Given the description of an element on the screen output the (x, y) to click on. 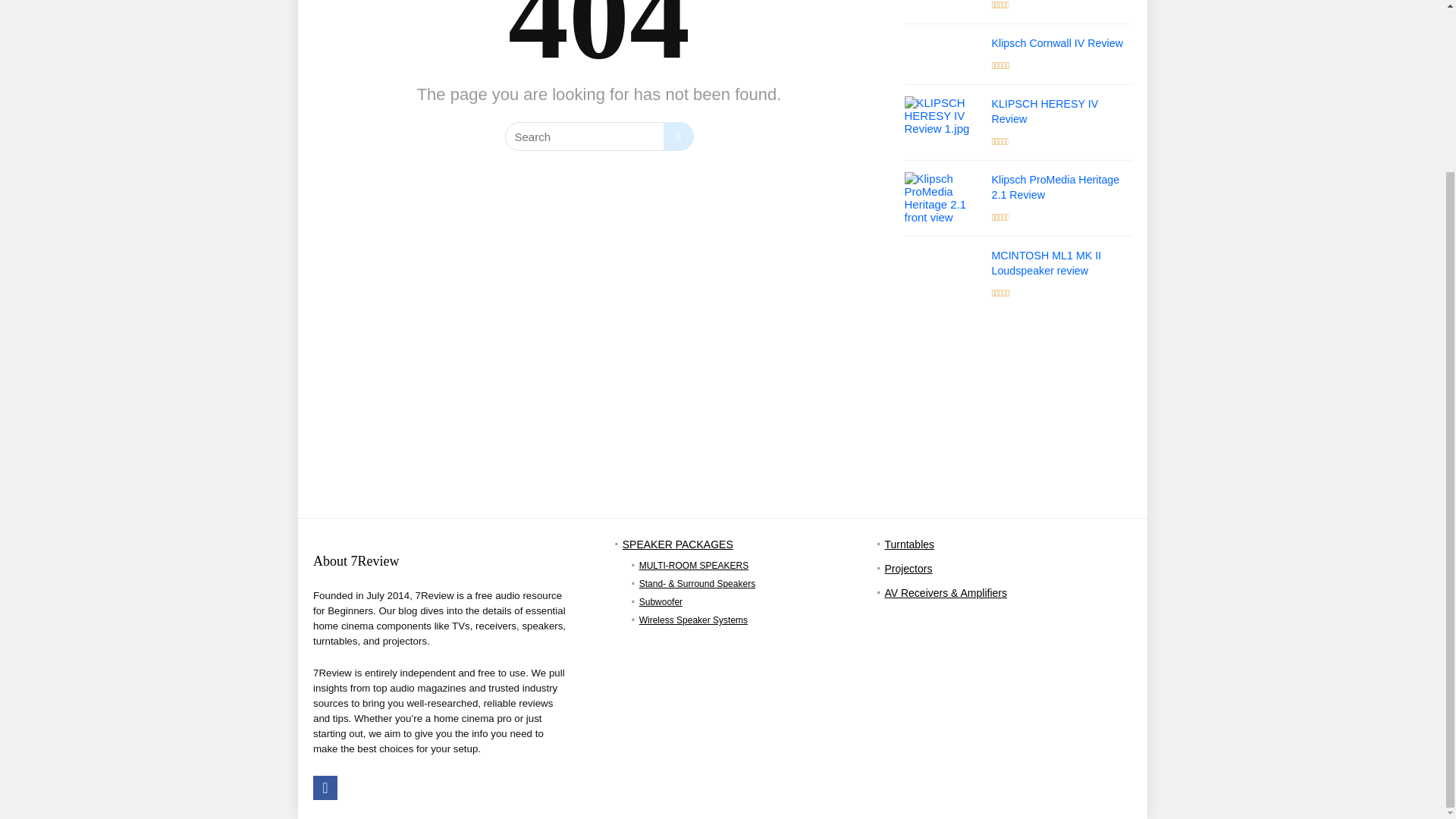
Turntables (908, 544)
Klipsch ProMedia Heritage 2.1 Review (1055, 186)
SPEAKER PACKAGES (678, 544)
Wireless Speaker Systems (693, 620)
MCINTOSH ML1 MK II Loudspeaker review (1046, 262)
Subwoofer (660, 602)
KLIPSCH HERESY IV Review (1045, 111)
Projectors (907, 568)
Klipsch Cornwall IV Review (1056, 42)
Facebook (325, 787)
MULTI-ROOM SPEAKERS (693, 565)
